Given the description of an element on the screen output the (x, y) to click on. 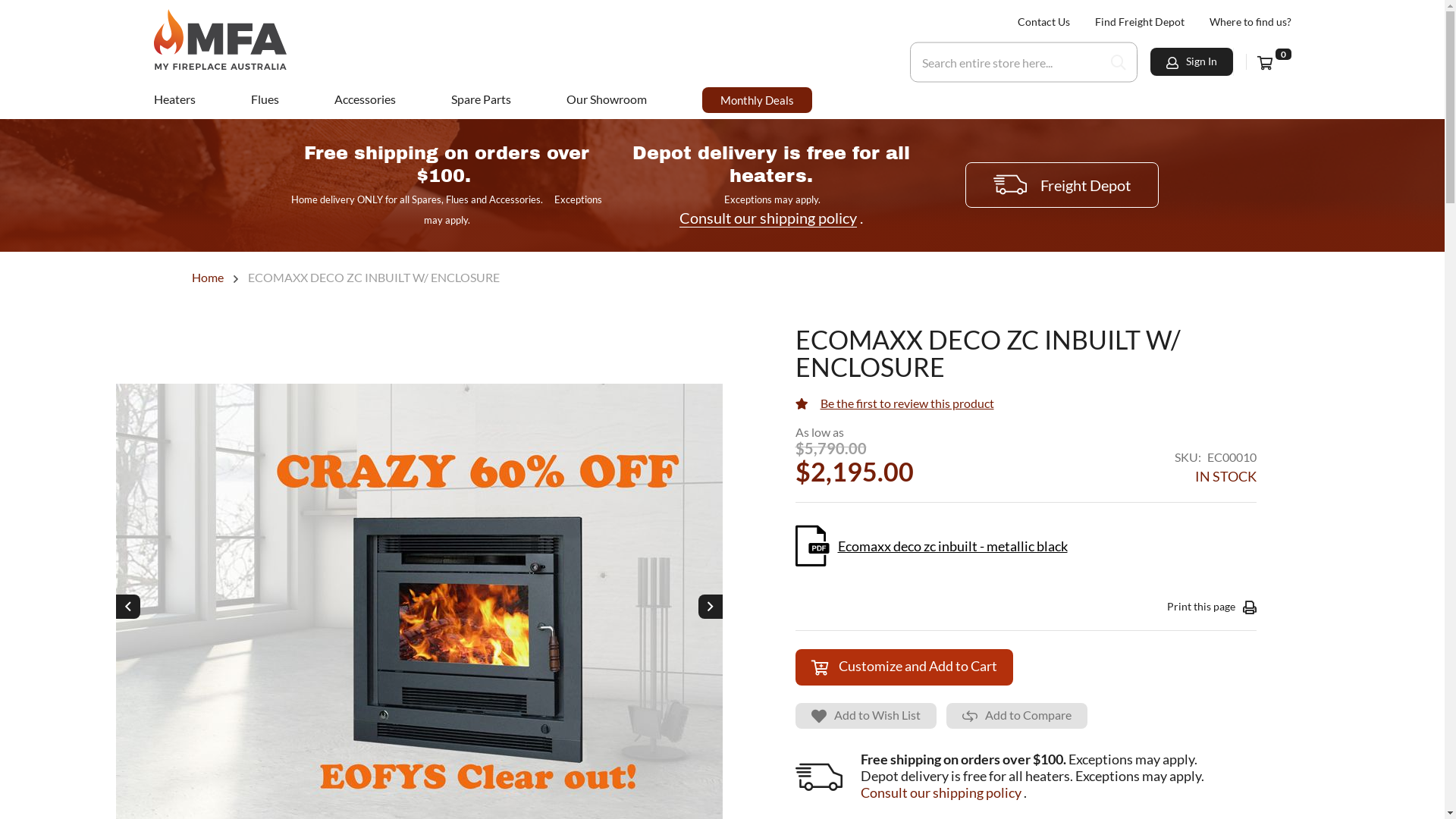
Ecomaxx deco zc inbuilt - metallic black Element type: text (930, 545)
Search Element type: text (1119, 61)
Heaters Element type: text (173, 98)
Accessories Element type: text (364, 98)
Spare Parts Element type: text (481, 98)
Find Freight Depot Element type: text (1139, 21)
Print this page Element type: text (1210, 606)
Monthly Deals Element type: text (757, 99)
Add to Compare Element type: text (1016, 715)
Flues Element type: text (265, 98)
Consult our shipping policy Element type: text (939, 792)
My Cart Element type: text (1273, 62)
Consult our shipping policy Element type: text (767, 217)
Skip to Content Element type: text (1290, 21)
Customize and Add to Cart Element type: text (903, 666)
Where to find us? Element type: text (1249, 21)
Home Element type: text (208, 276)
Freight Depot Element type: text (1060, 184)
Our Showroom Element type: text (606, 98)
Add to Wish List Element type: text (864, 715)
My Fireplace Australia Element type: hover (219, 39)
Be the first to review this product Element type: text (907, 403)
Sign In Element type: text (1192, 61)
Contact Us Element type: text (1043, 21)
